Given the description of an element on the screen output the (x, y) to click on. 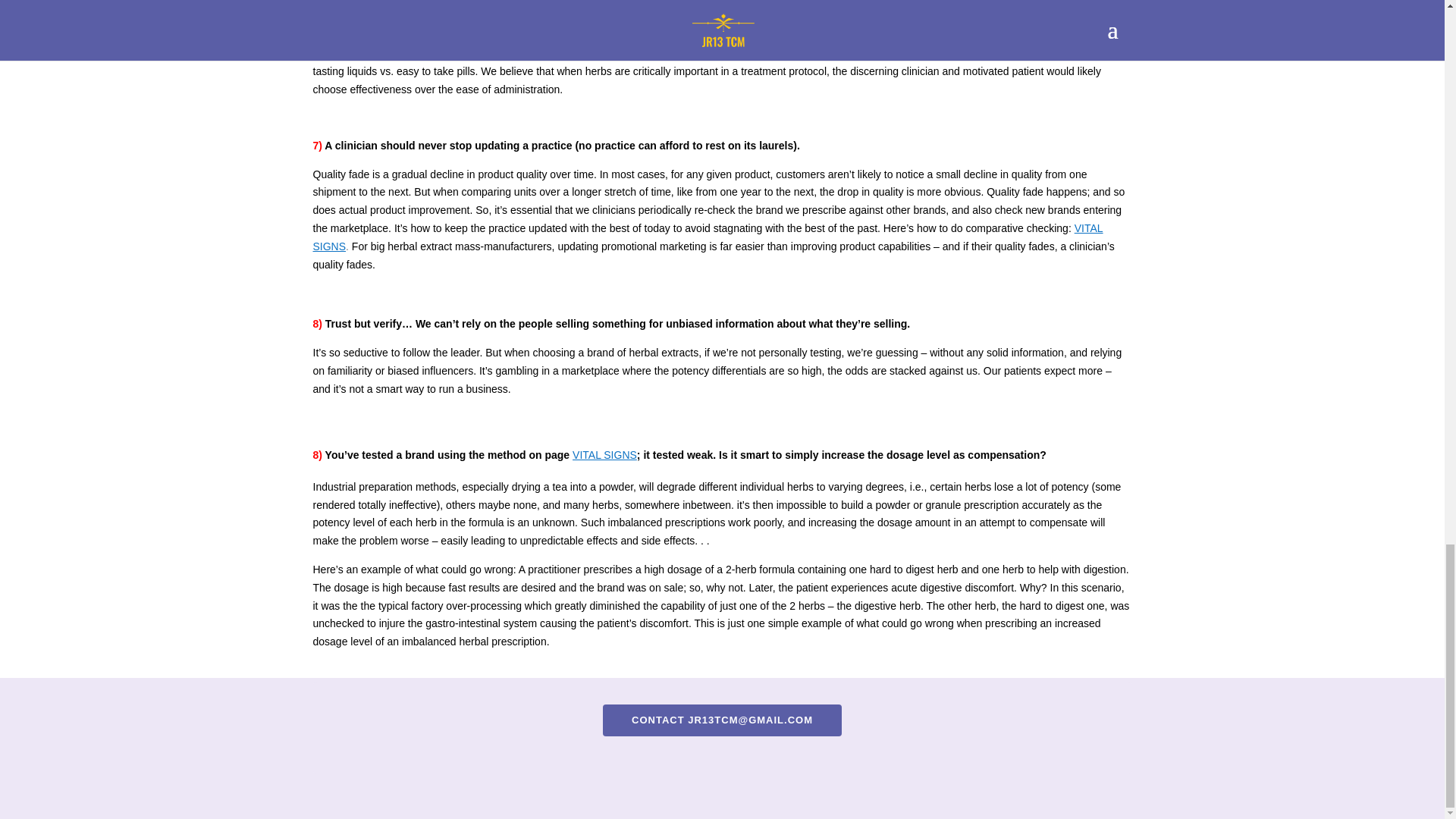
VITAL SIGNS (707, 236)
VITAL SIGNS (604, 454)
VITAL SIGNS (604, 454)
